Given the description of an element on the screen output the (x, y) to click on. 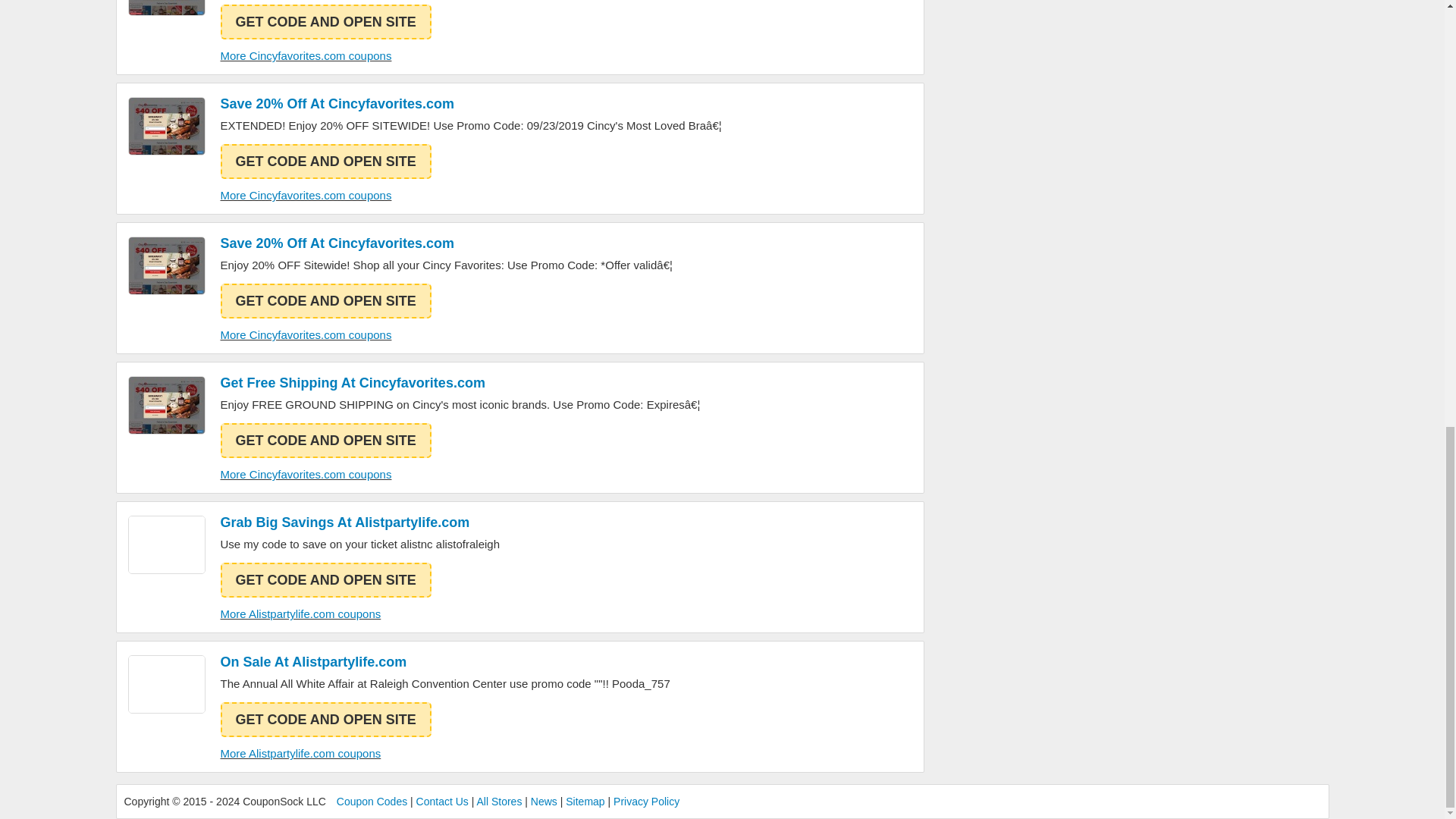
Alistpartylife.com Coupons (166, 684)
GET CODE AND OPEN SITE (324, 21)
GET CODE AND OPEN SITE (324, 440)
Cincyfavorites.com Coupons (166, 126)
On Sale At Alistpartylife.com (444, 661)
More Cincyfavorites.com coupons (305, 334)
More Cincyfavorites.com coupons (305, 473)
Cincyfavorites.com Coupons (166, 265)
Get Free Shipping At Cincyfavorites.com (459, 382)
Cincyfavorites.com Coupons (166, 404)
